Given the description of an element on the screen output the (x, y) to click on. 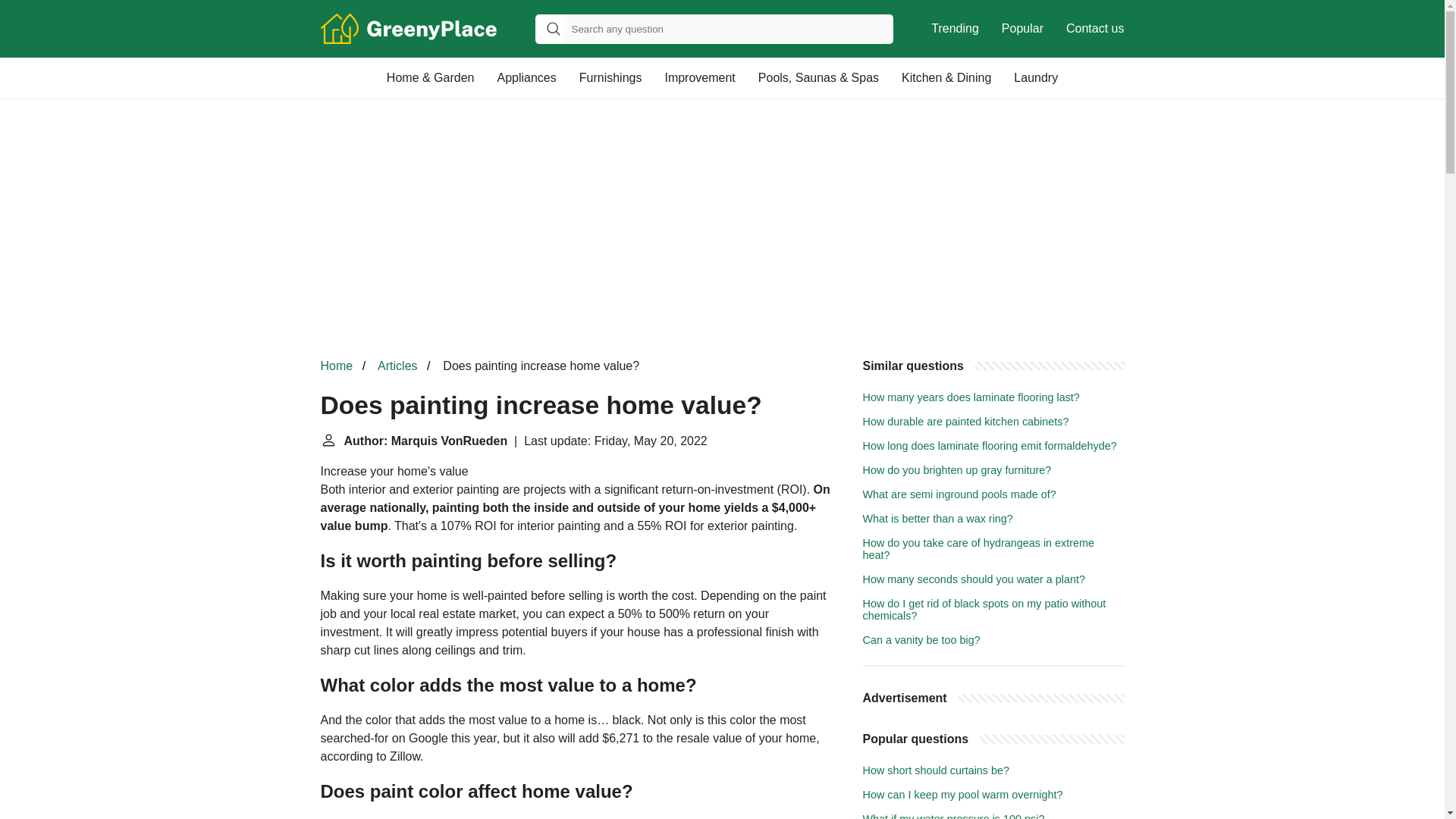
What is better than a wax ring? (938, 518)
What are semi inground pools made of? (960, 494)
Home (336, 365)
How can I keep my pool warm overnight? (962, 794)
Appliances (525, 77)
How long does laminate flooring emit formaldehyde? (989, 445)
Trending (954, 28)
What if my water pressure is 100 psi? (954, 816)
How many years does laminate flooring last? (971, 397)
Popular (1022, 28)
